Given the description of an element on the screen output the (x, y) to click on. 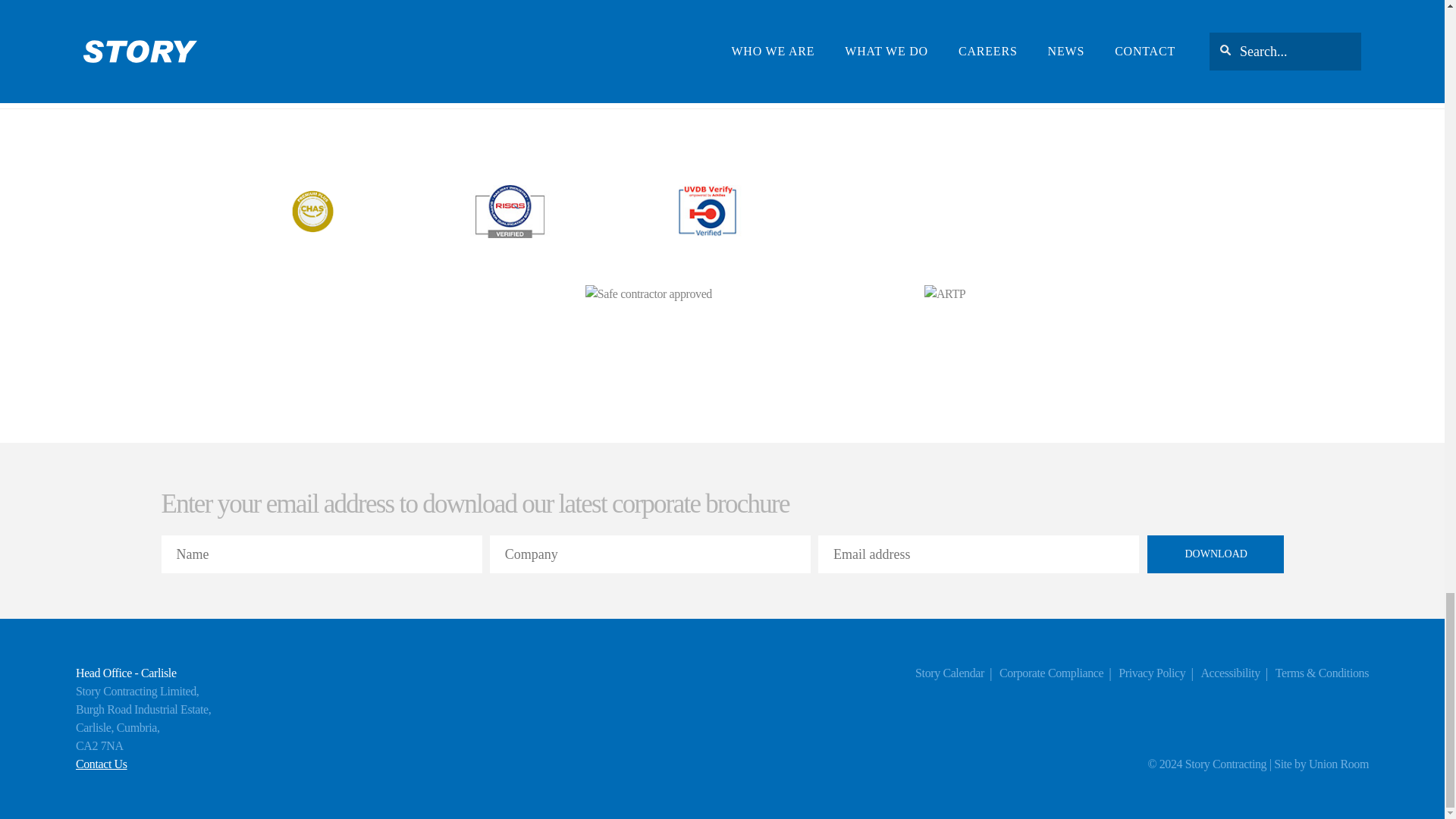
Download (1214, 554)
Download (1214, 554)
Story Calendar (949, 673)
Contact Us (101, 762)
Corporate Compliance (1050, 673)
